Given the description of an element on the screen output the (x, y) to click on. 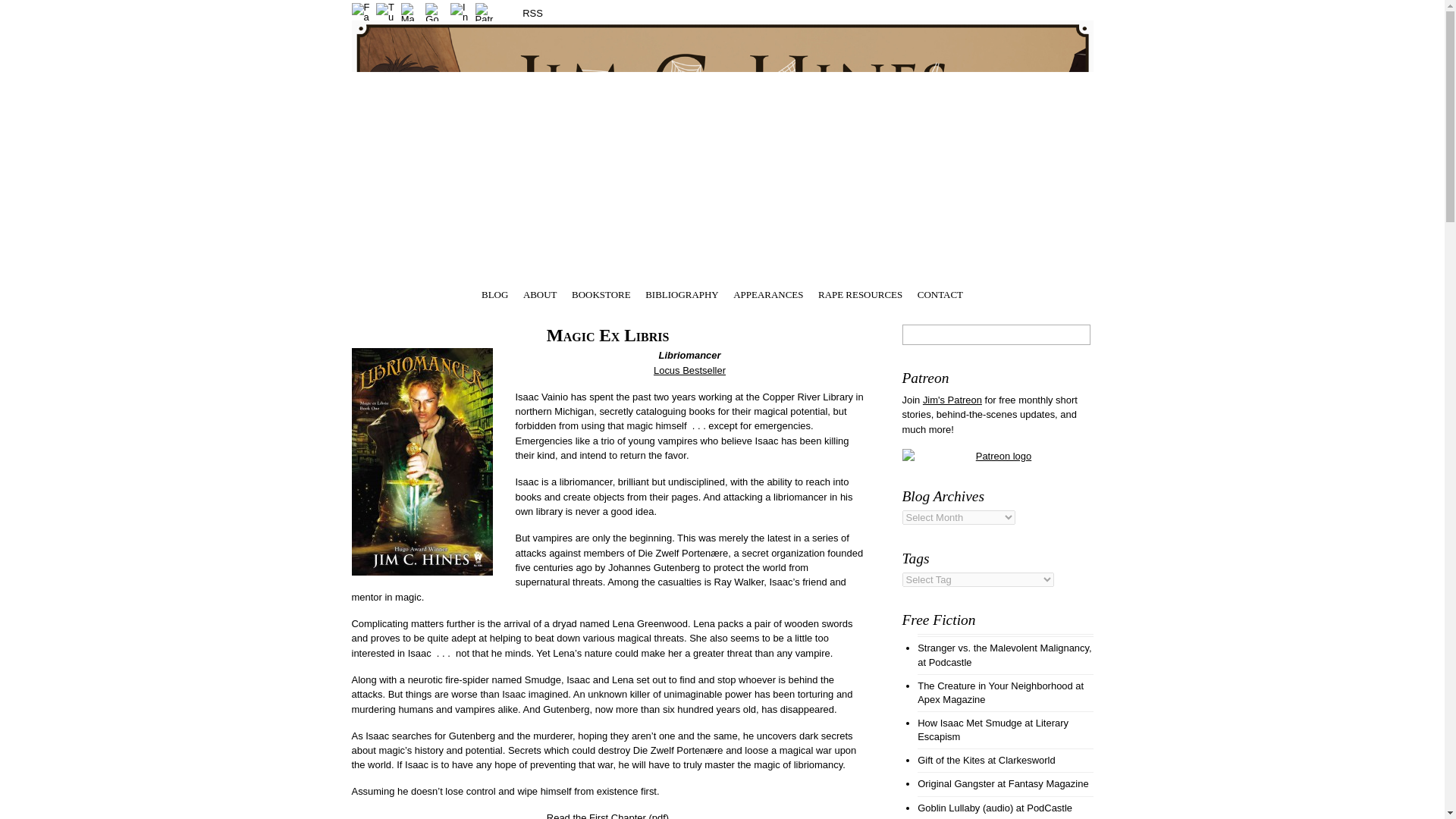
Magic Ex Libris (608, 334)
Search (996, 334)
RSS (521, 12)
APPEARANCES (768, 292)
RAPE RESOURCES (860, 292)
Locus Bestseller (689, 369)
BIBLIOGRAPHY (681, 292)
ABOUT (539, 292)
CONTACT (939, 292)
